Given the description of an element on the screen output the (x, y) to click on. 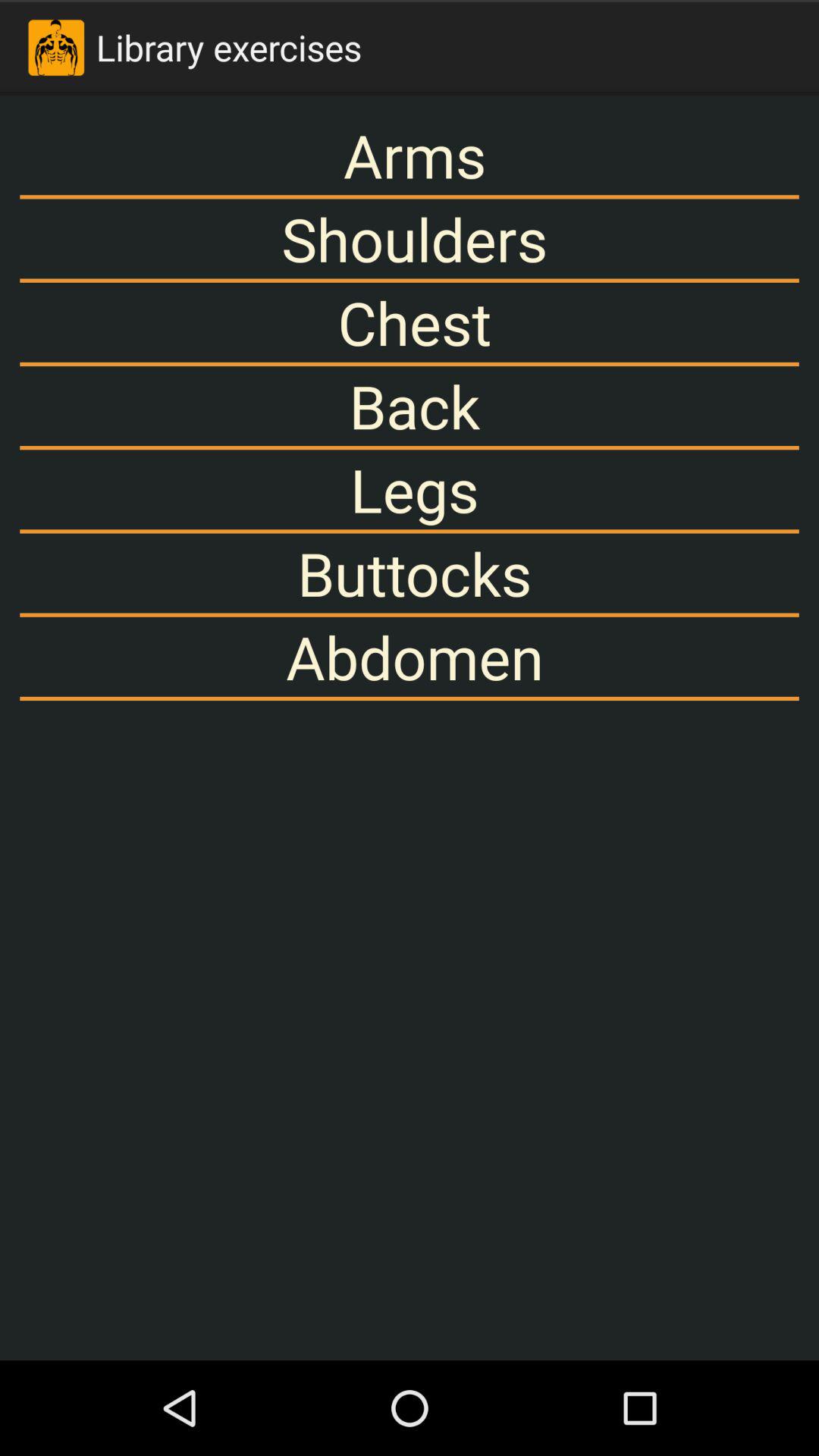
launch buttocks (409, 573)
